Given the description of an element on the screen output the (x, y) to click on. 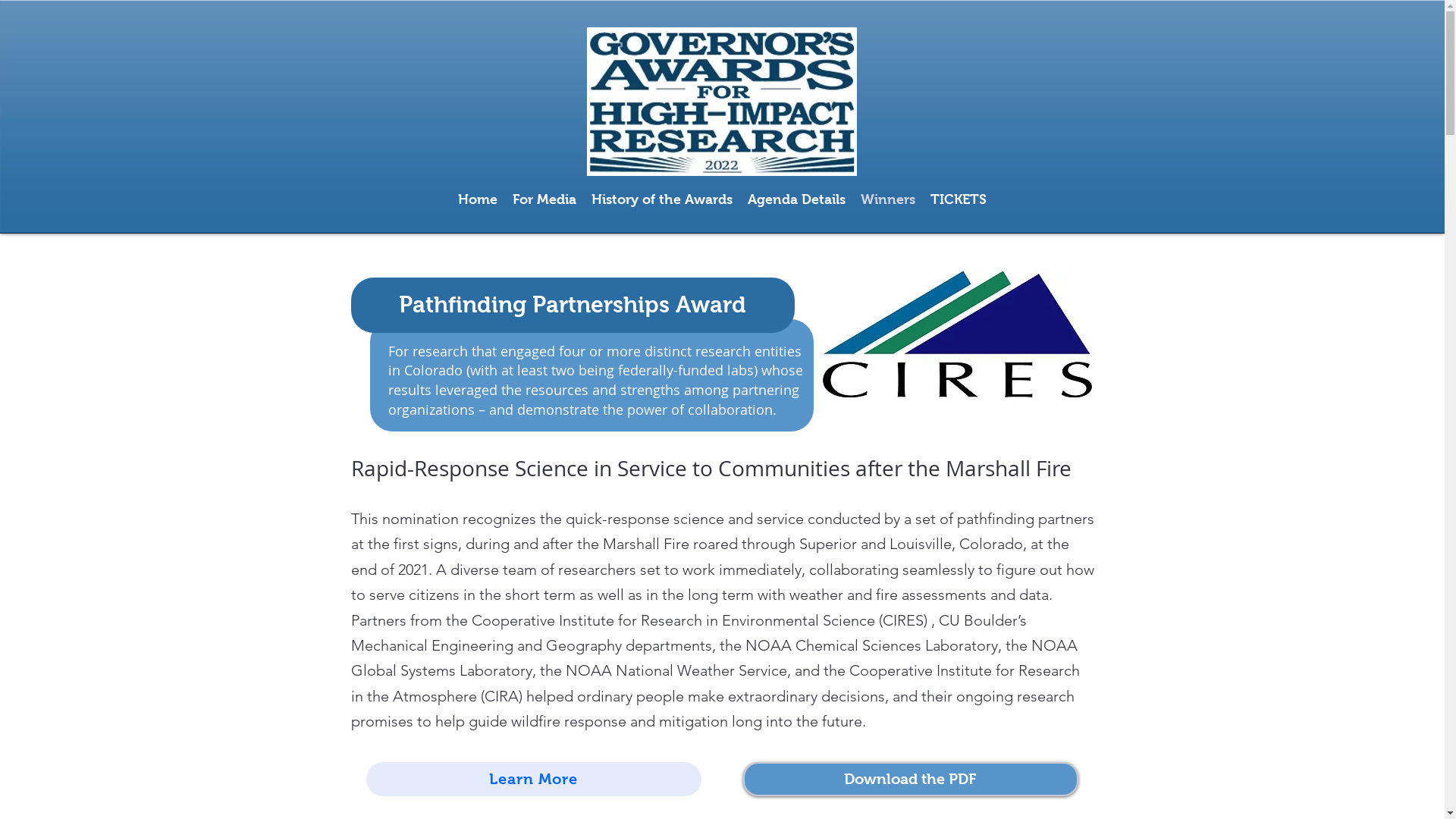
Winners Element type: text (887, 199)
Download the PDF Element type: text (910, 779)
History of the Awards Element type: text (661, 199)
TICKETS Element type: text (958, 199)
For Media Element type: text (544, 199)
Home Element type: text (477, 199)
Agenda Details Element type: text (796, 199)
Learn More Element type: text (532, 779)
